Given the description of an element on the screen output the (x, y) to click on. 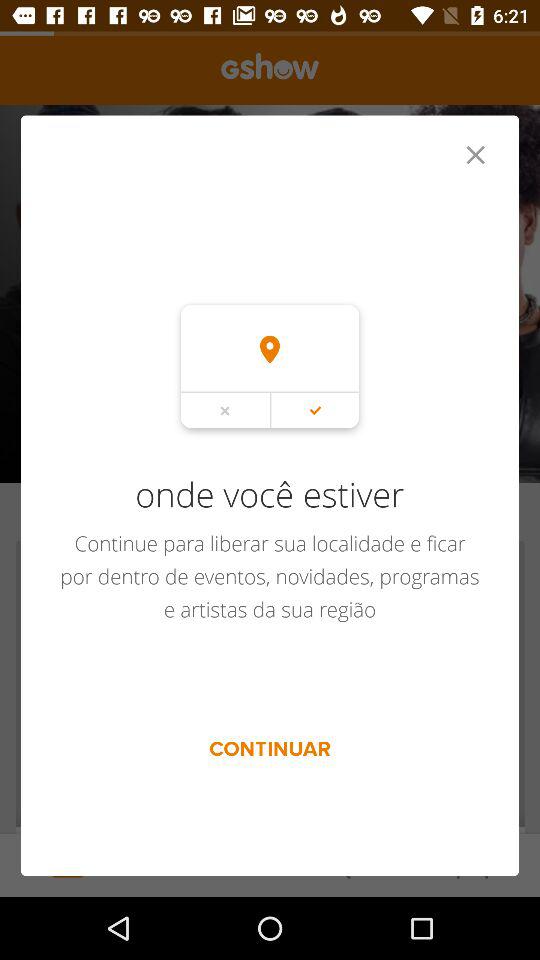
launch the item above continue para liberar item (475, 154)
